Given the description of an element on the screen output the (x, y) to click on. 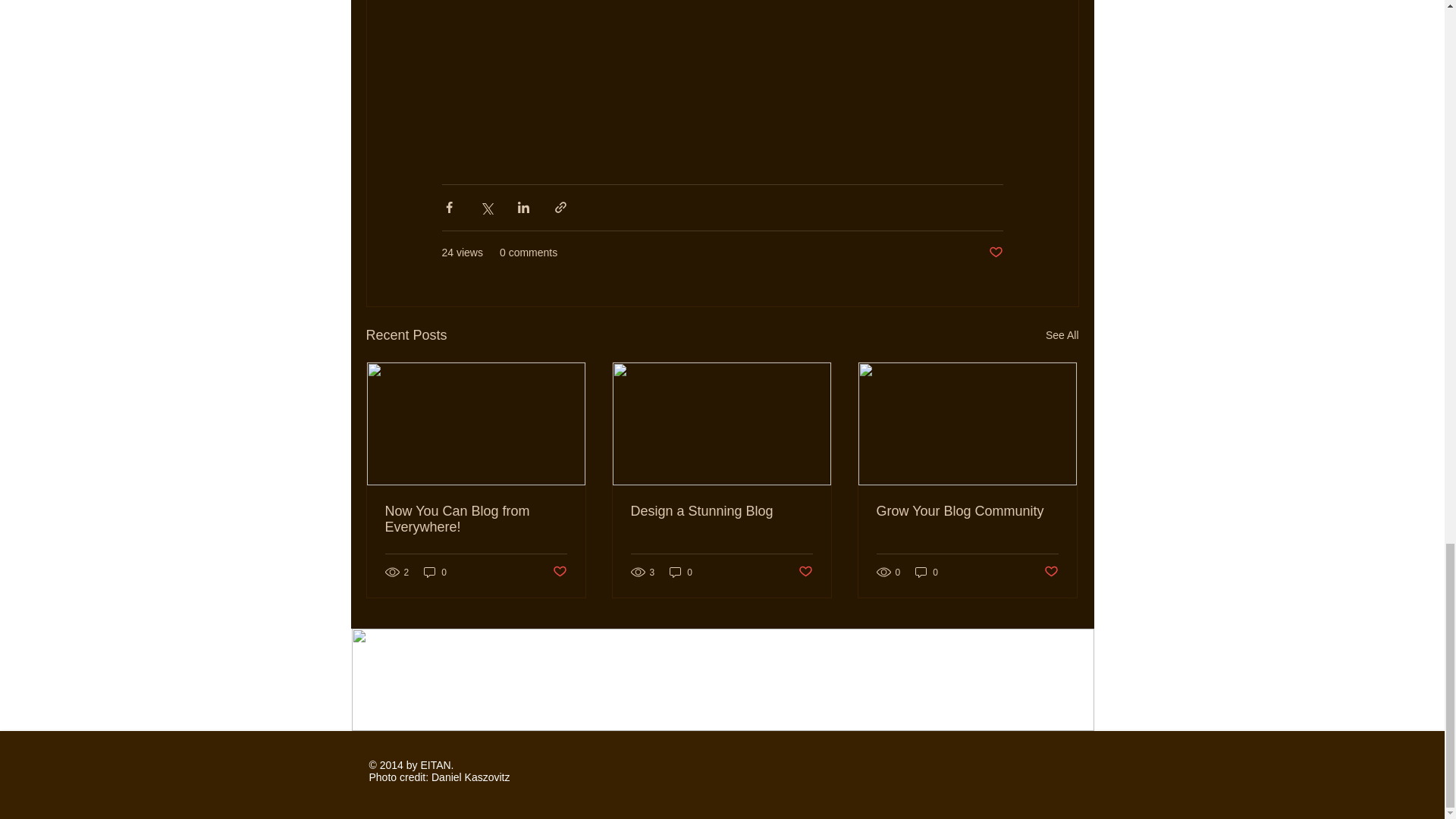
Post not marked as liked (558, 571)
Now You Can Blog from Everywhere! (476, 519)
See All (1061, 335)
0 (435, 572)
Post not marked as liked (995, 252)
card.jpg (723, 679)
